Given the description of an element on the screen output the (x, y) to click on. 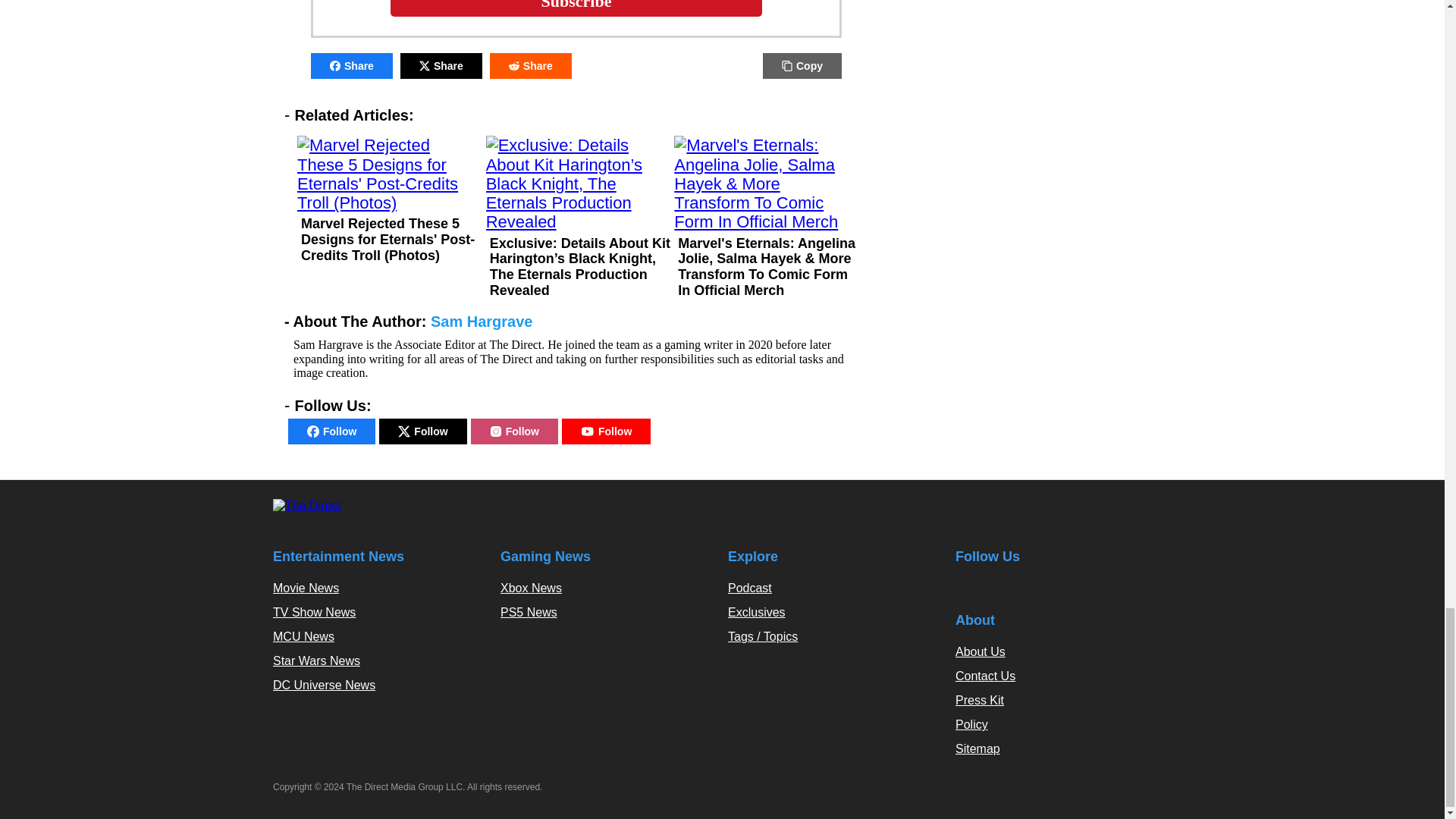
Share on Reddit (530, 65)
